Given the description of an element on the screen output the (x, y) to click on. 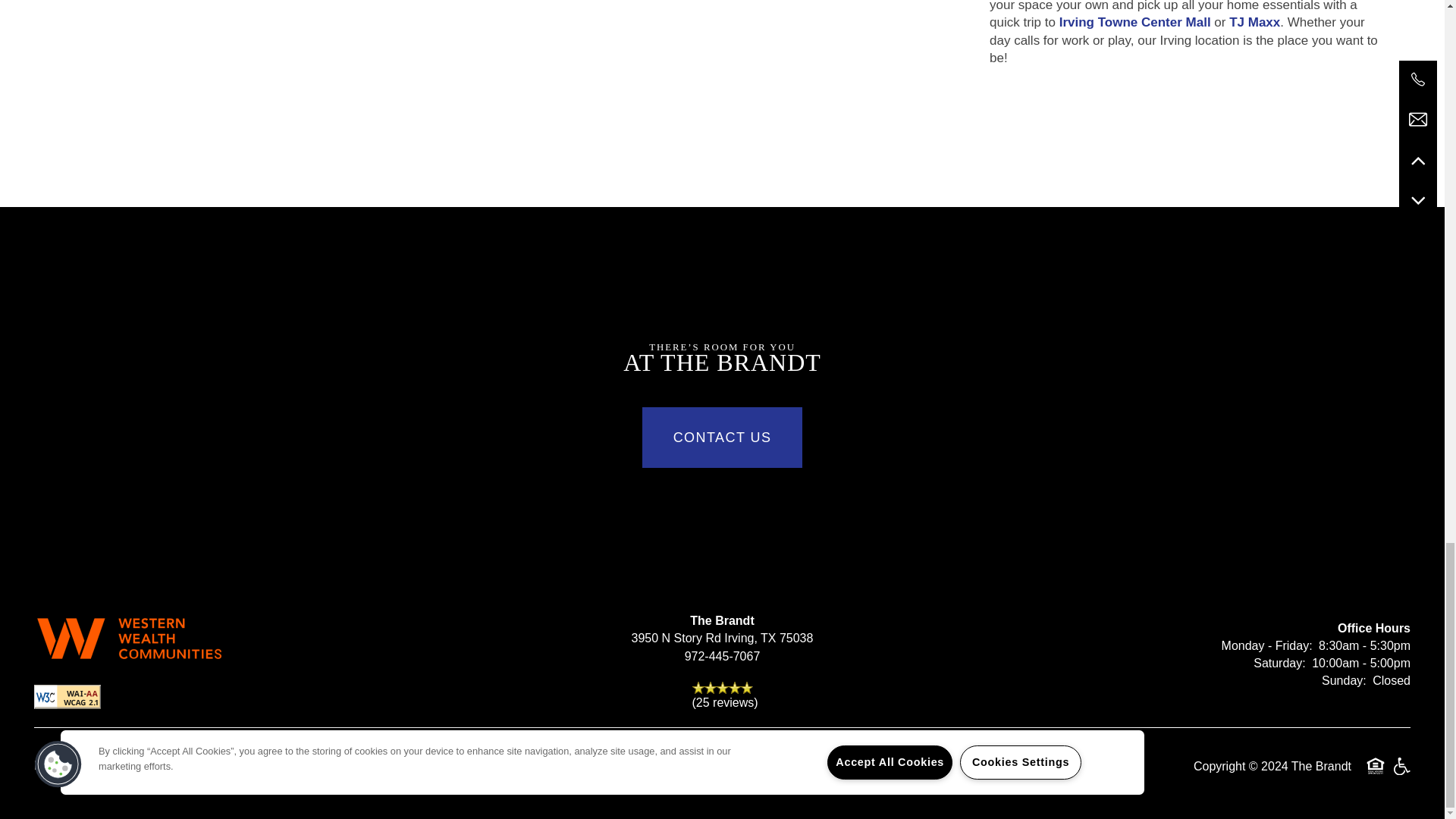
Facebook (283, 769)
972-445-7067 (722, 656)
3950 N Story Rd Irving, TX 75038 (722, 638)
Google My Business (330, 769)
Irving Towne Center Mall (1135, 22)
Property Phone Number (722, 656)
CONTACT US (722, 437)
TJ Maxx (1253, 22)
